Given the description of an element on the screen output the (x, y) to click on. 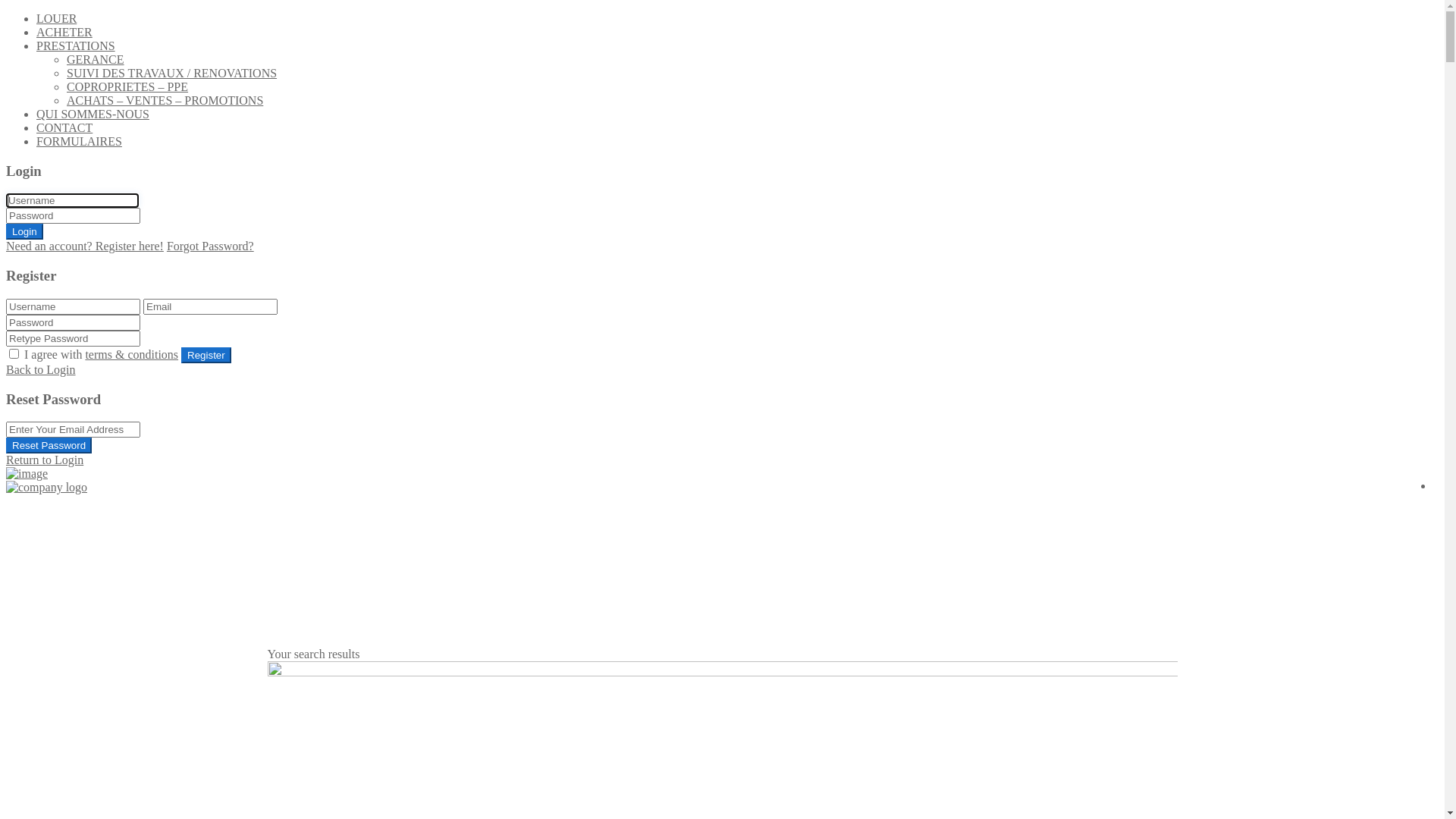
FORMULAIRES Element type: text (79, 140)
Need an account? Register here! Element type: text (84, 245)
GERANCE Element type: text (95, 59)
Back to Login Element type: text (40, 369)
terms & conditions Element type: text (131, 354)
PRESTATIONS Element type: text (75, 45)
SUIVI DES TRAVAUX / RENOVATIONS Element type: text (171, 72)
Reset Password Element type: text (48, 445)
QUI SOMMES-NOUS Element type: text (92, 113)
CONTACT Element type: text (64, 127)
Login Element type: text (24, 231)
Register Element type: text (206, 355)
Return to Login Element type: text (44, 459)
ACHETER Element type: text (64, 31)
Forgot Password? Element type: text (210, 245)
LOUER Element type: text (56, 18)
